Given the description of an element on the screen output the (x, y) to click on. 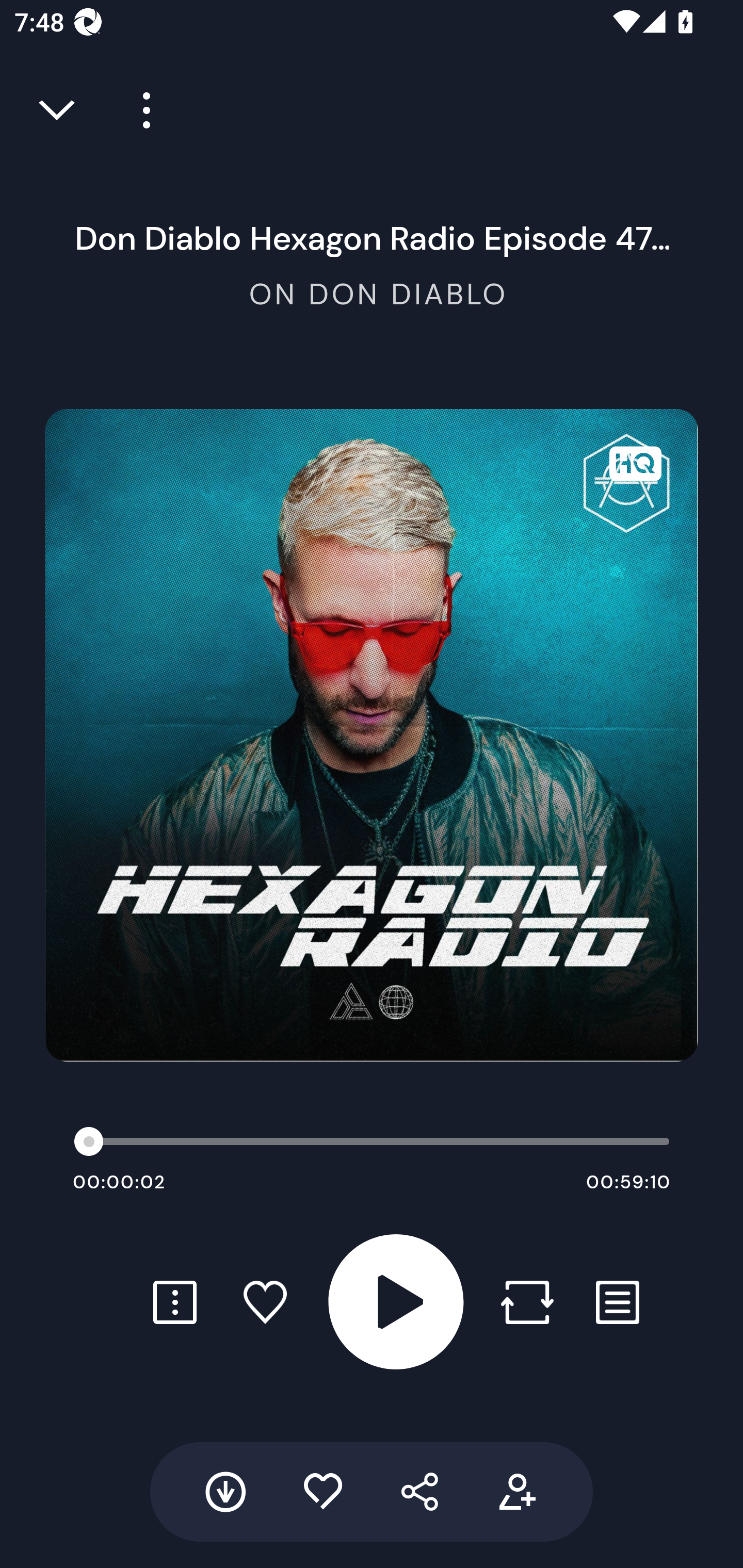
Close full player (58, 110)
Player more options button (139, 110)
Repost button (527, 1301)
